Given the description of an element on the screen output the (x, y) to click on. 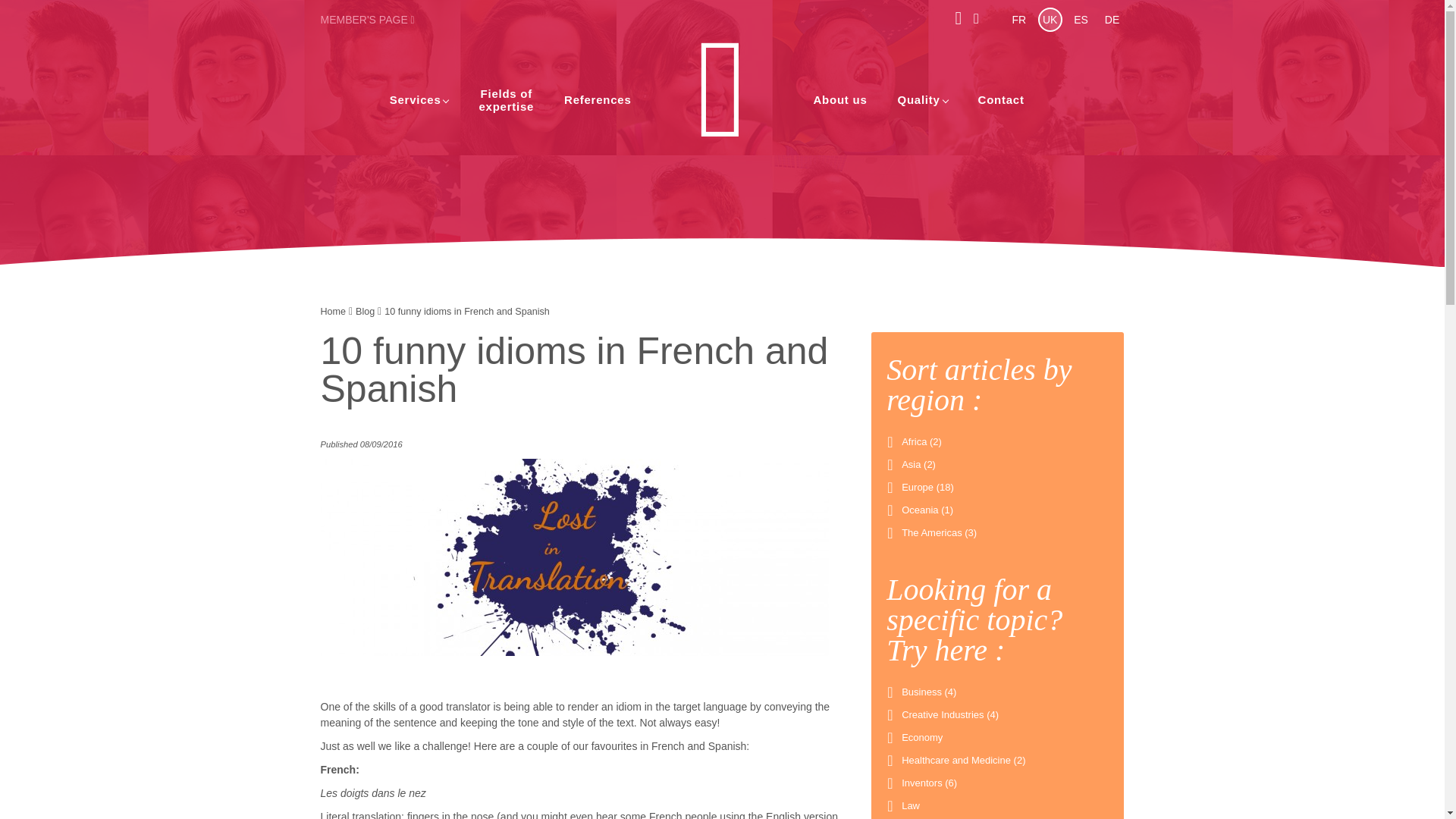
ES (1080, 19)
FR (1018, 19)
MEMBER'S PAGE (366, 19)
Services (506, 100)
DE (415, 99)
UK (1111, 19)
